Given the description of an element on the screen output the (x, y) to click on. 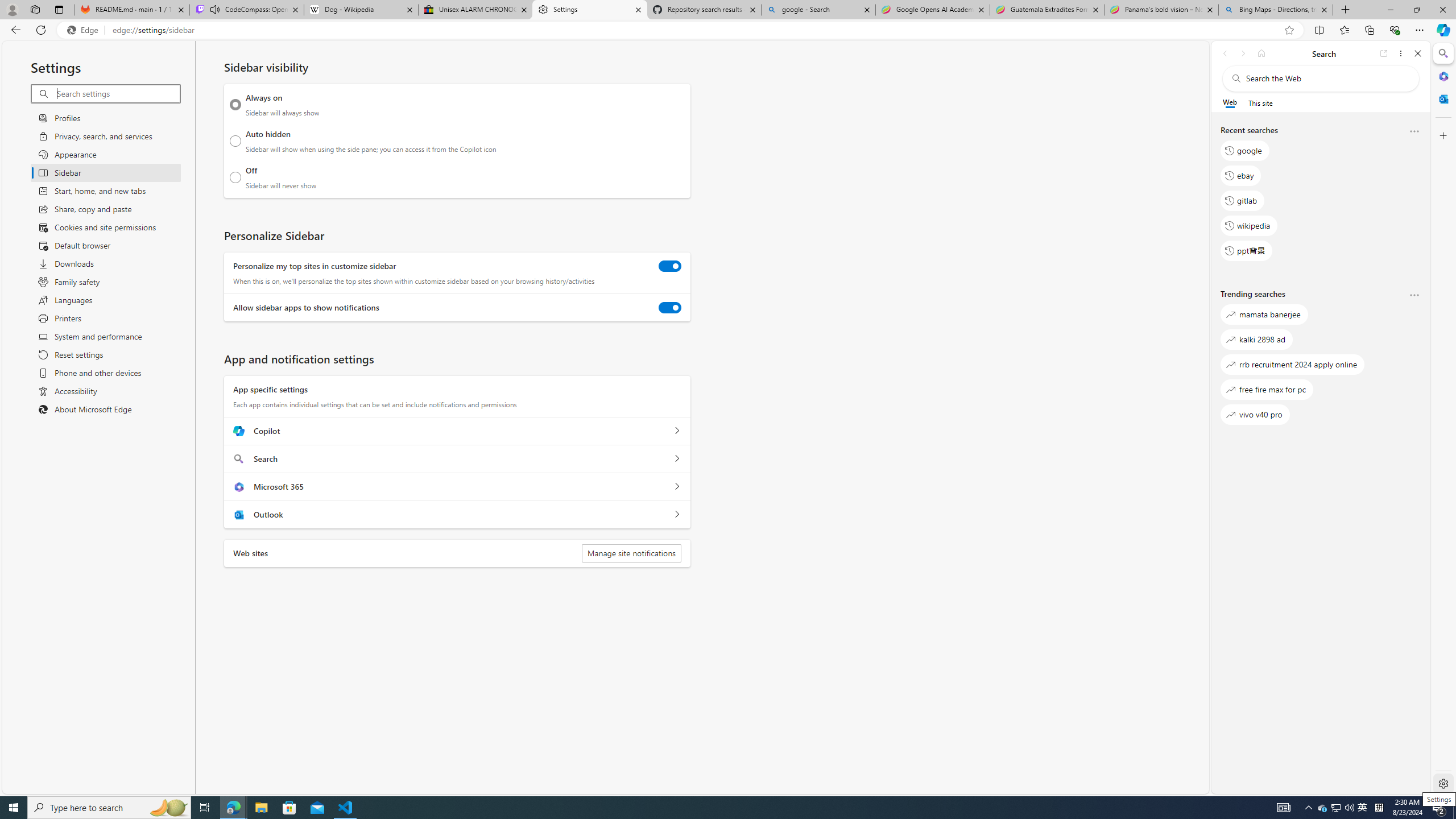
Personal Profile (12, 9)
Allow sidebar apps to show notifications (669, 307)
Web scope (1230, 102)
Customize (1442, 135)
Home (1261, 53)
Mute tab (215, 8)
ebay (1240, 175)
Search the web (1326, 78)
Off Sidebar will never show (235, 177)
